Given the description of an element on the screen output the (x, y) to click on. 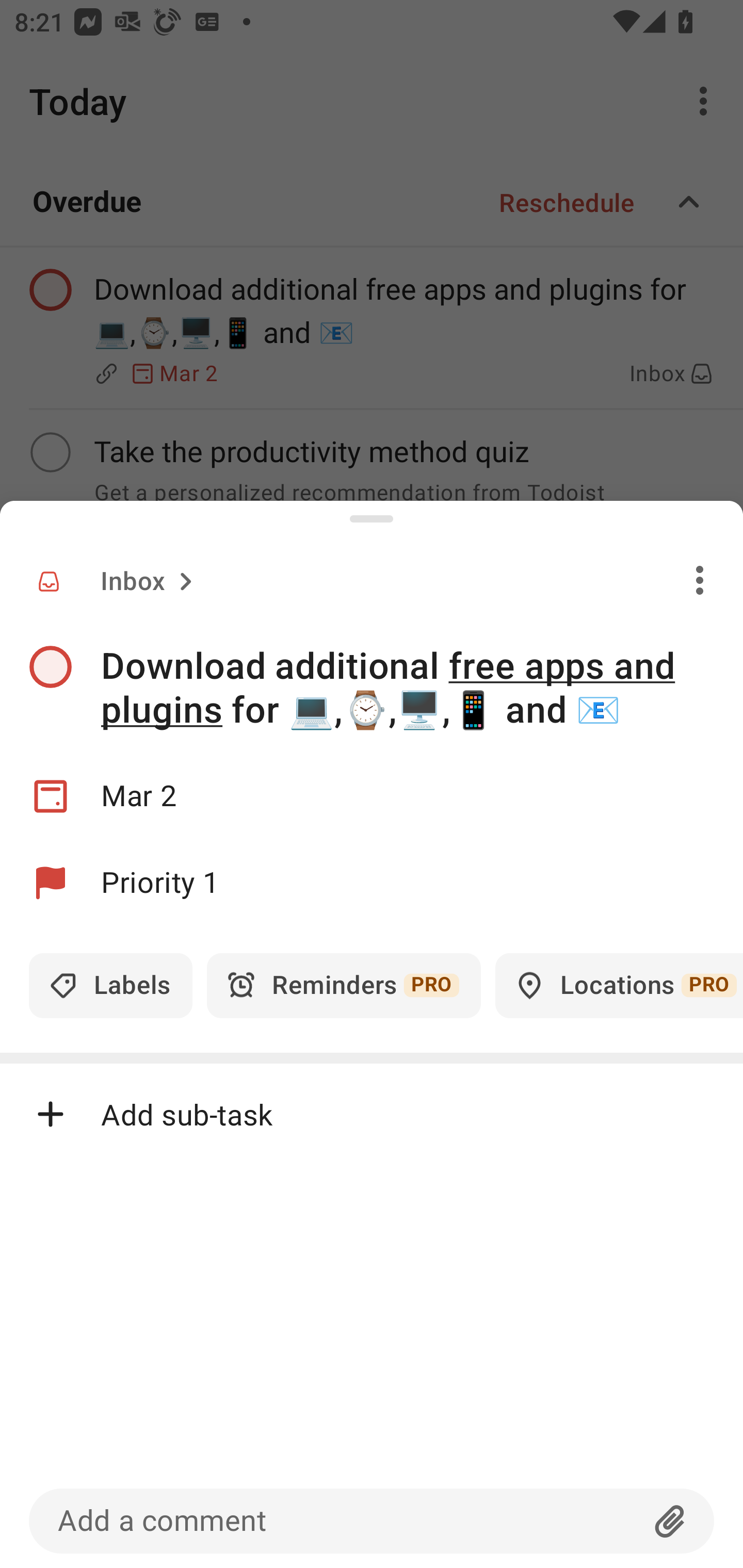
Overflow menu (699, 580)
Complete (50, 667)
Date Mar 2 (371, 796)
Priority Priority 1 (371, 883)
Labels (110, 985)
Reminders PRO (343, 985)
Locations PRO (619, 985)
Add sub-task (371, 1113)
Add a comment Attachment (371, 1520)
Attachment (670, 1520)
